Given the description of an element on the screen output the (x, y) to click on. 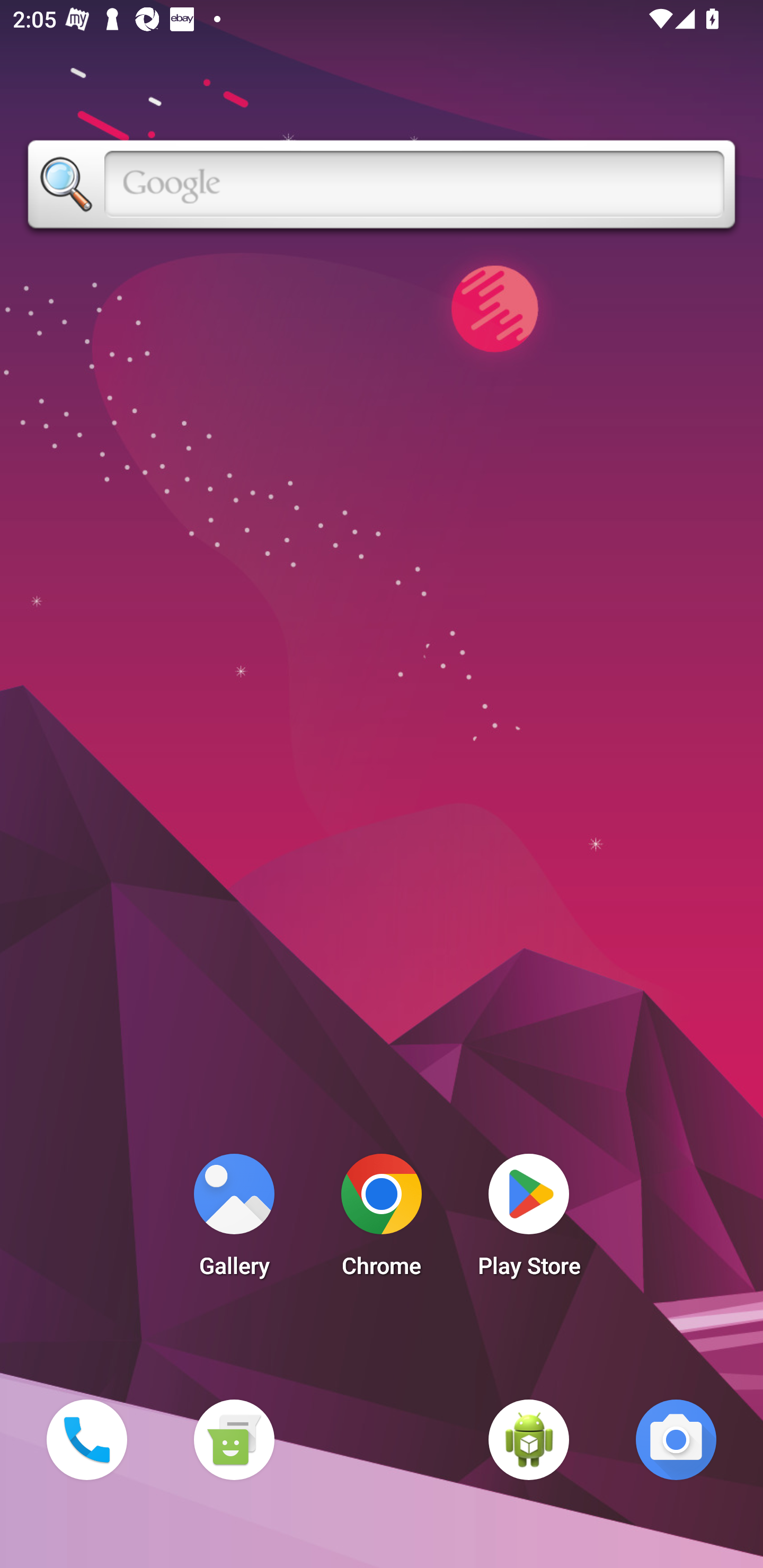
Gallery (233, 1220)
Chrome (381, 1220)
Play Store (528, 1220)
Phone (86, 1439)
Messaging (233, 1439)
WebView Browser Tester (528, 1439)
Camera (676, 1439)
